Given the description of an element on the screen output the (x, y) to click on. 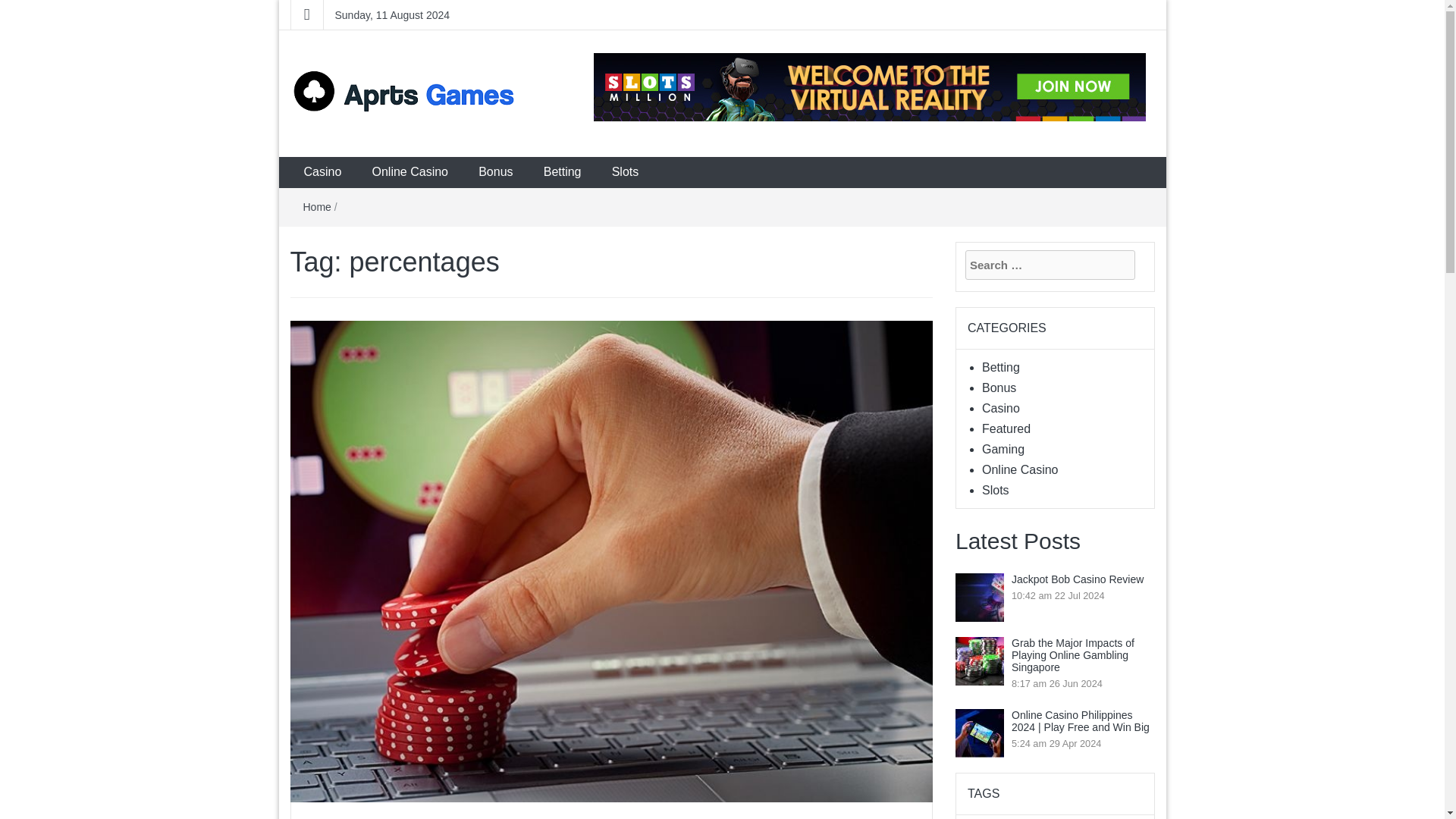
Home (316, 206)
Betting (562, 172)
Gaming (1003, 449)
Aprts Games (368, 141)
Featured (1005, 428)
Casino (1000, 408)
Search (15, 6)
Online Casino (409, 172)
Online Casino (1019, 469)
Jackpot Bob Casino Review  (1079, 579)
